Given the description of an element on the screen output the (x, y) to click on. 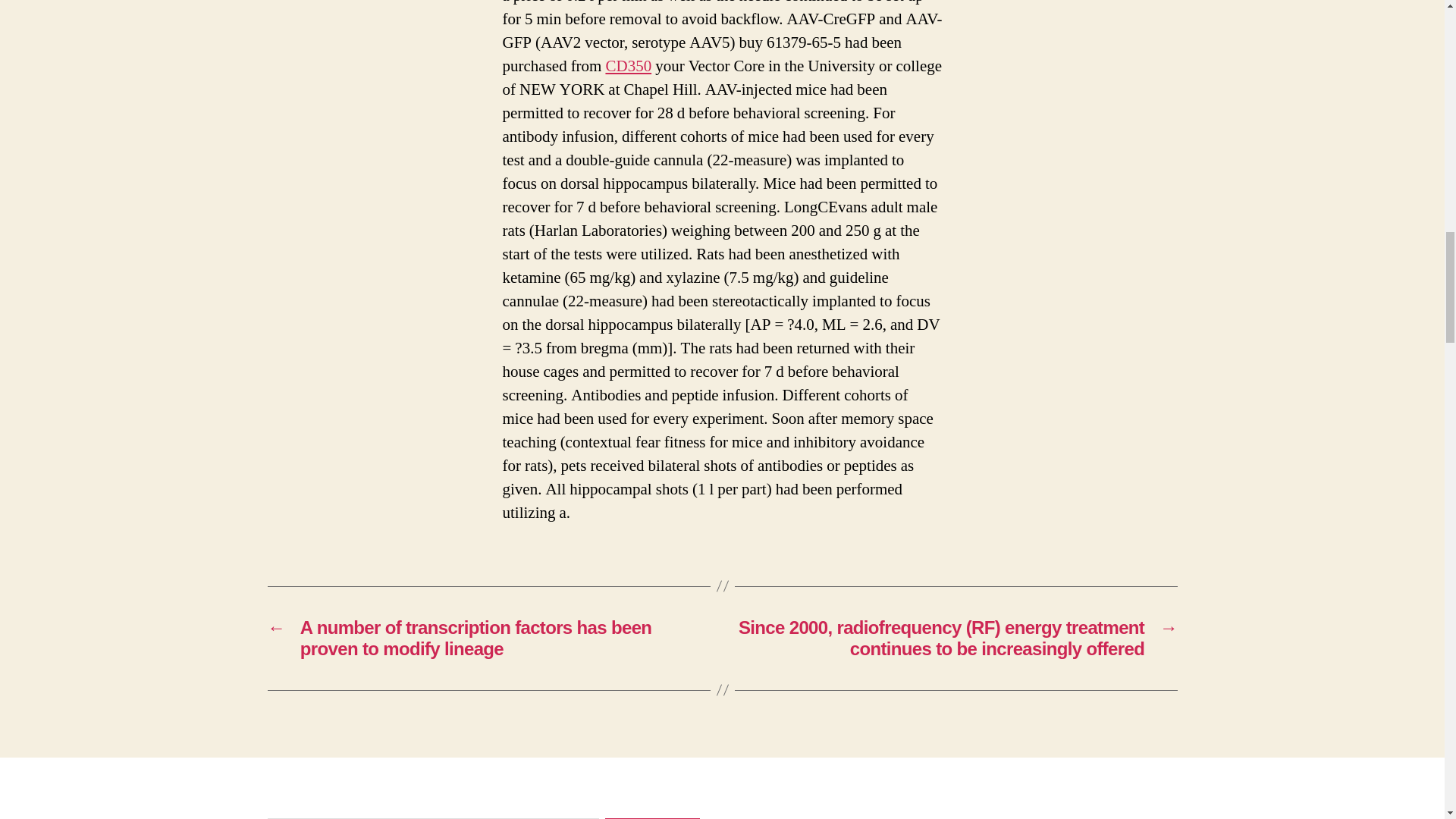
CD350 (627, 66)
